Given the description of an element on the screen output the (x, y) to click on. 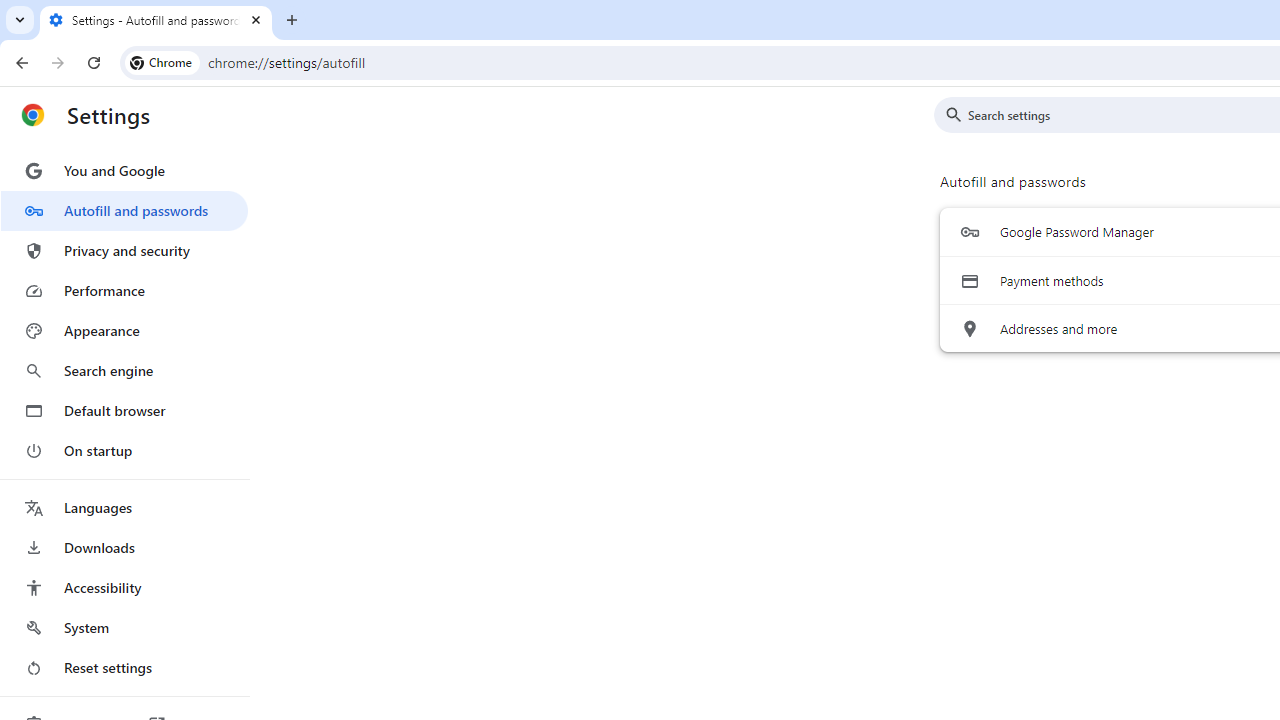
Appearance (124, 331)
Search engine (124, 370)
Default browser (124, 410)
On startup (124, 450)
